Given the description of an element on the screen output the (x, y) to click on. 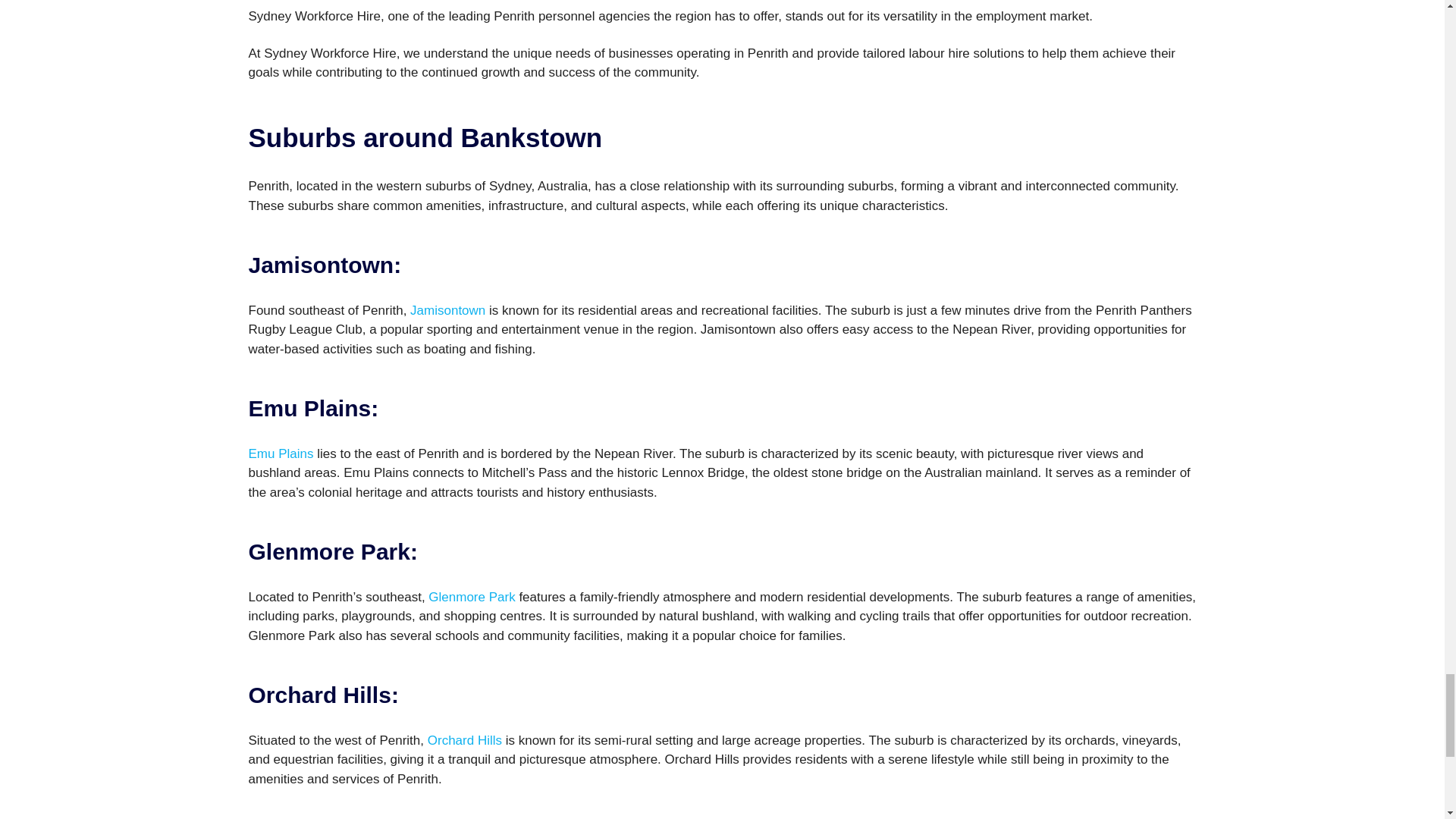
Jamisontown (449, 310)
Emu Plains (281, 453)
Orchard Hills (465, 740)
Glenmore Park (471, 596)
